Given the description of an element on the screen output the (x, y) to click on. 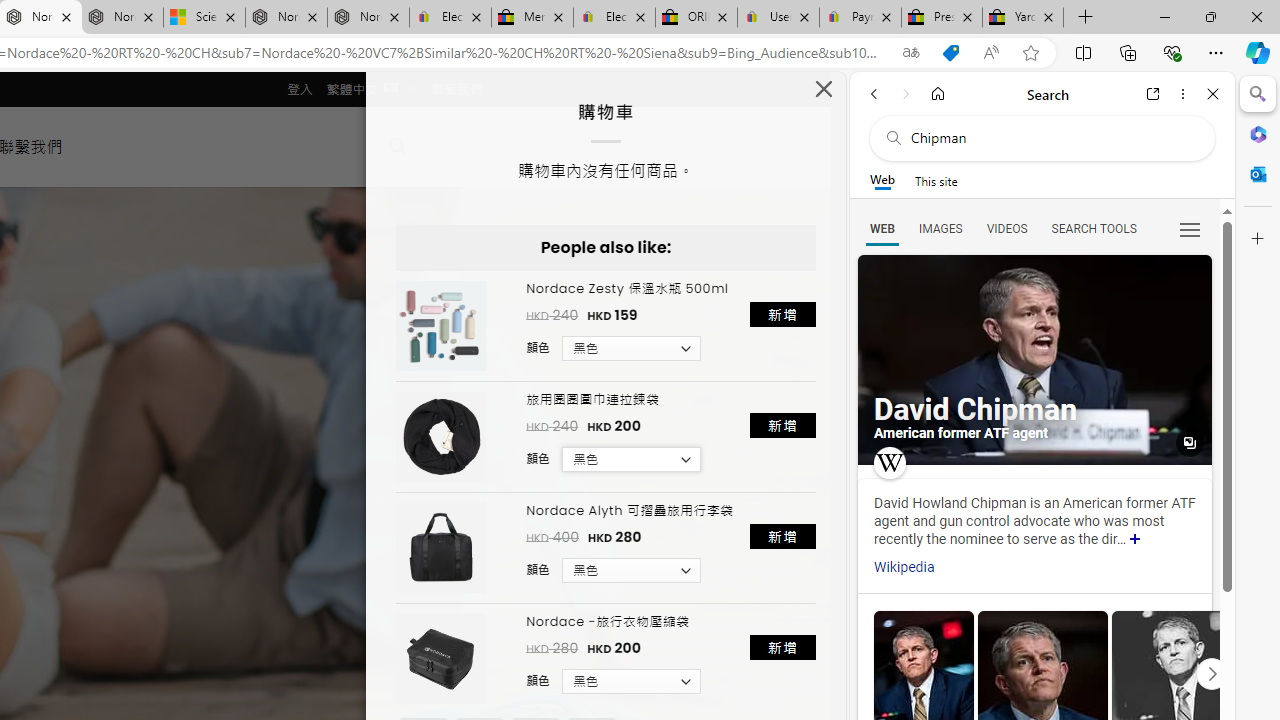
 0  (458, 146)
User Privacy Notice | eBay (778, 17)
Customize (1258, 239)
Press Room - eBay Inc. (941, 17)
Search the web (1051, 137)
Search Filter, IMAGES (939, 228)
Search (1258, 94)
